Given the description of an element on the screen output the (x, y) to click on. 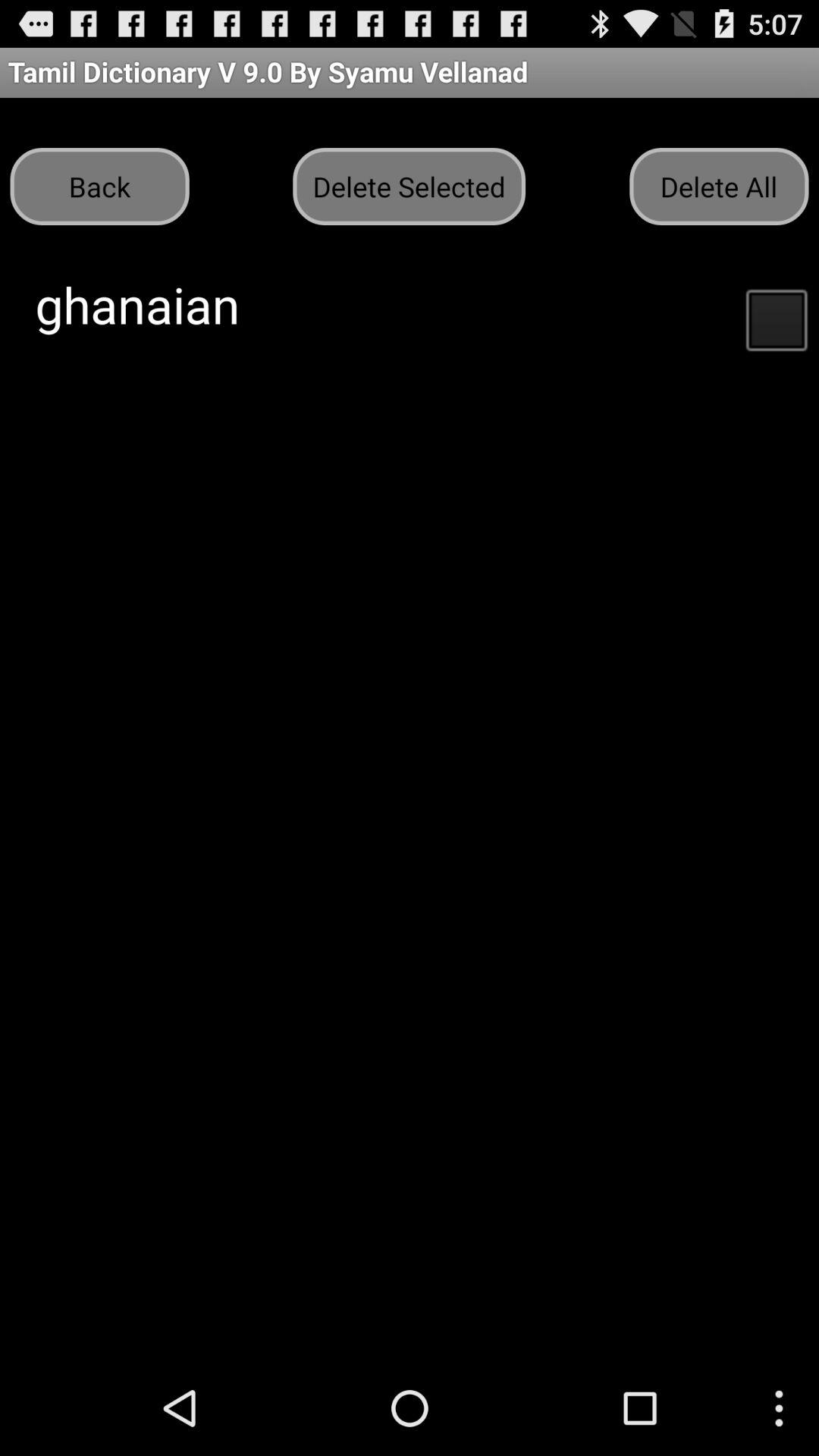
choose the delete selected (408, 186)
